Given the description of an element on the screen output the (x, y) to click on. 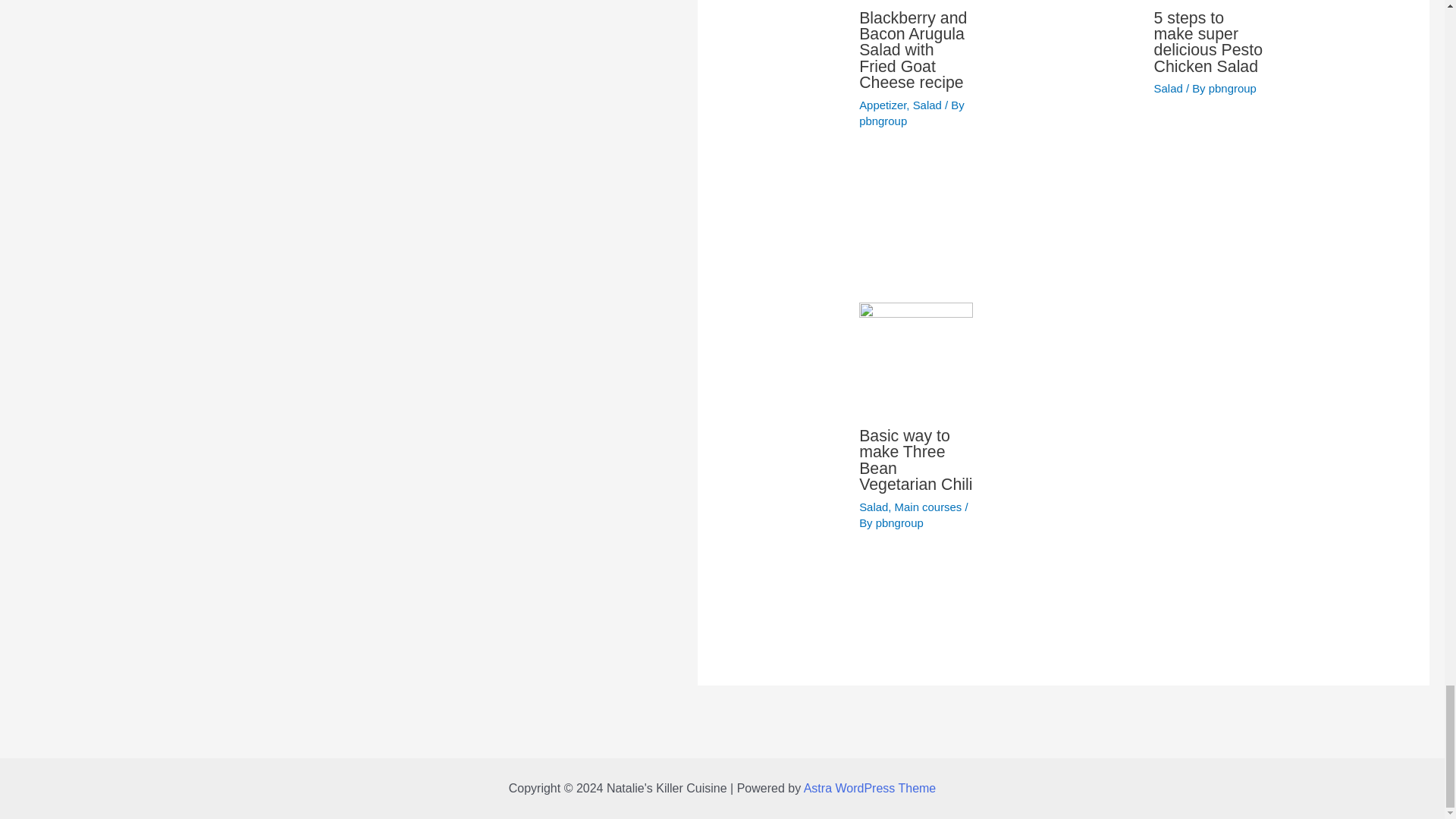
View all posts by pbngroup (883, 120)
View all posts by pbngroup (899, 522)
View all posts by pbngroup (1232, 88)
